Given the description of an element on the screen output the (x, y) to click on. 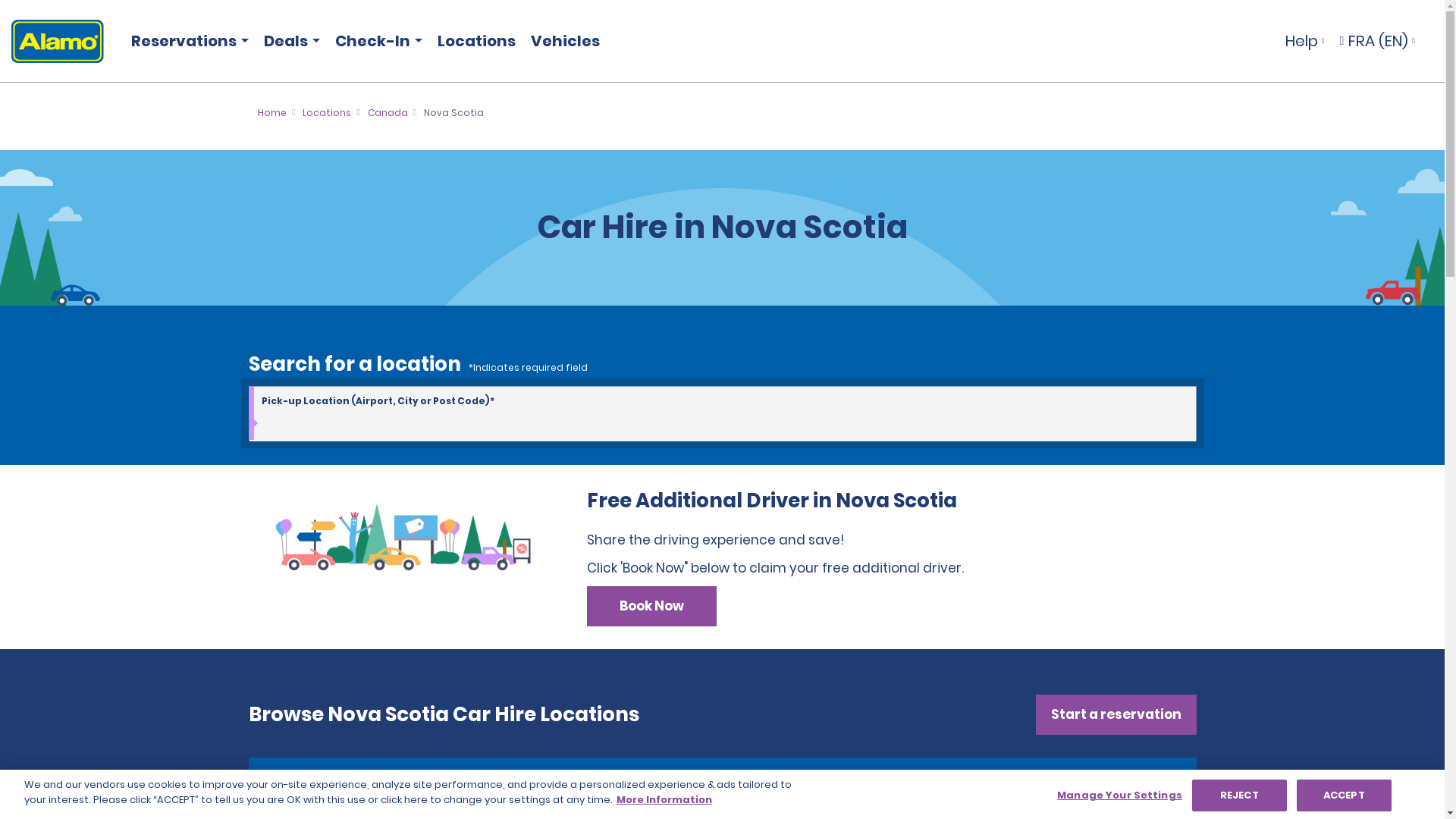
Canada (387, 112)
Help (1305, 40)
Reservations (185, 40)
Vehicles (564, 40)
Check-In (374, 40)
Home (271, 112)
Start a reservation (1115, 714)
Locations (475, 40)
Book Now (651, 606)
Deals (288, 40)
